Given the description of an element on the screen output the (x, y) to click on. 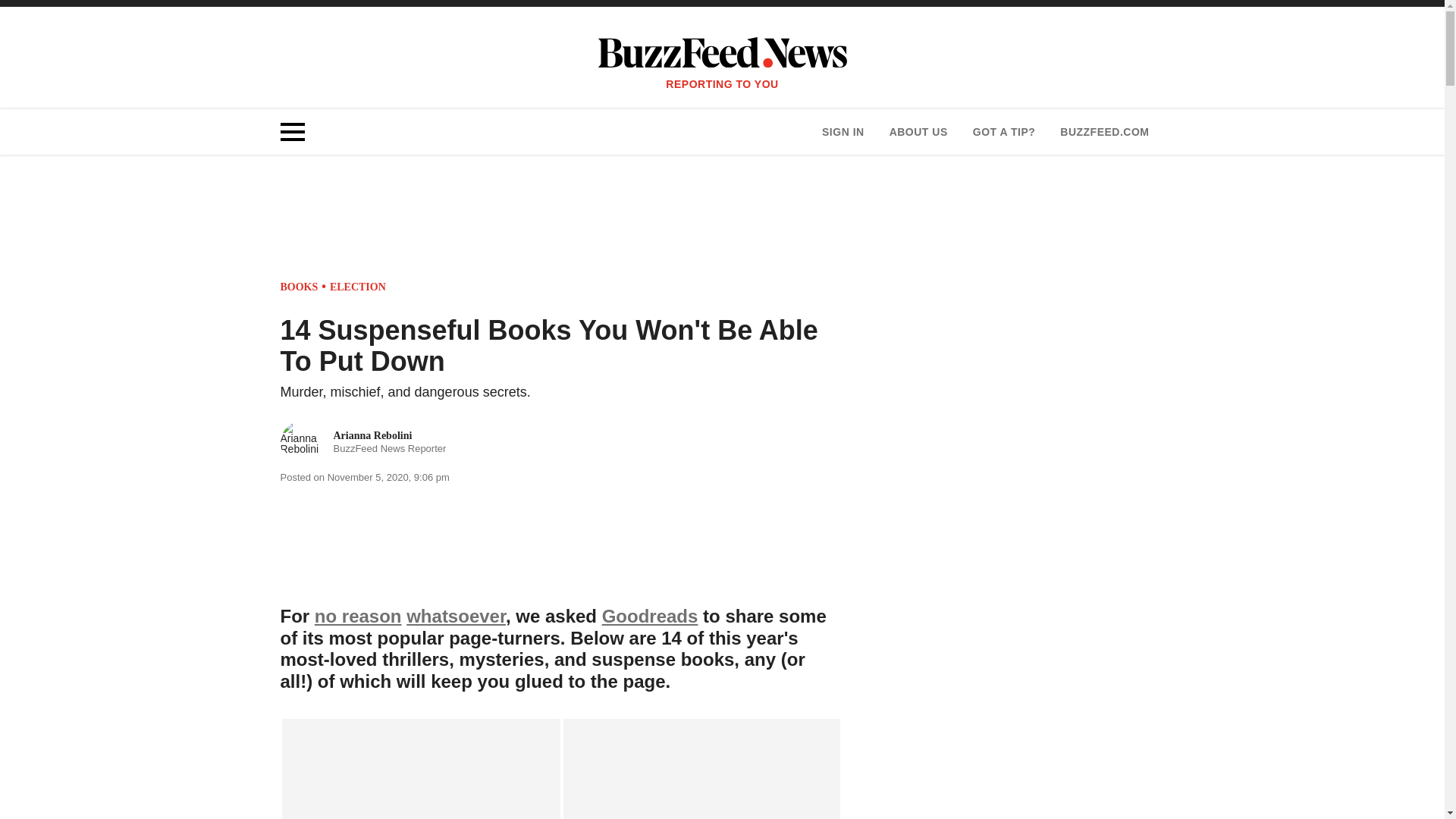
BOOKS (299, 286)
SIGN IN (842, 131)
GOT A TIP? (1003, 131)
BUZZFEED.COM (1103, 131)
no reason (357, 616)
Goodreads (650, 616)
ABOUT US (917, 131)
whatsoever (363, 442)
ELECTION (455, 616)
